Given the description of an element on the screen output the (x, y) to click on. 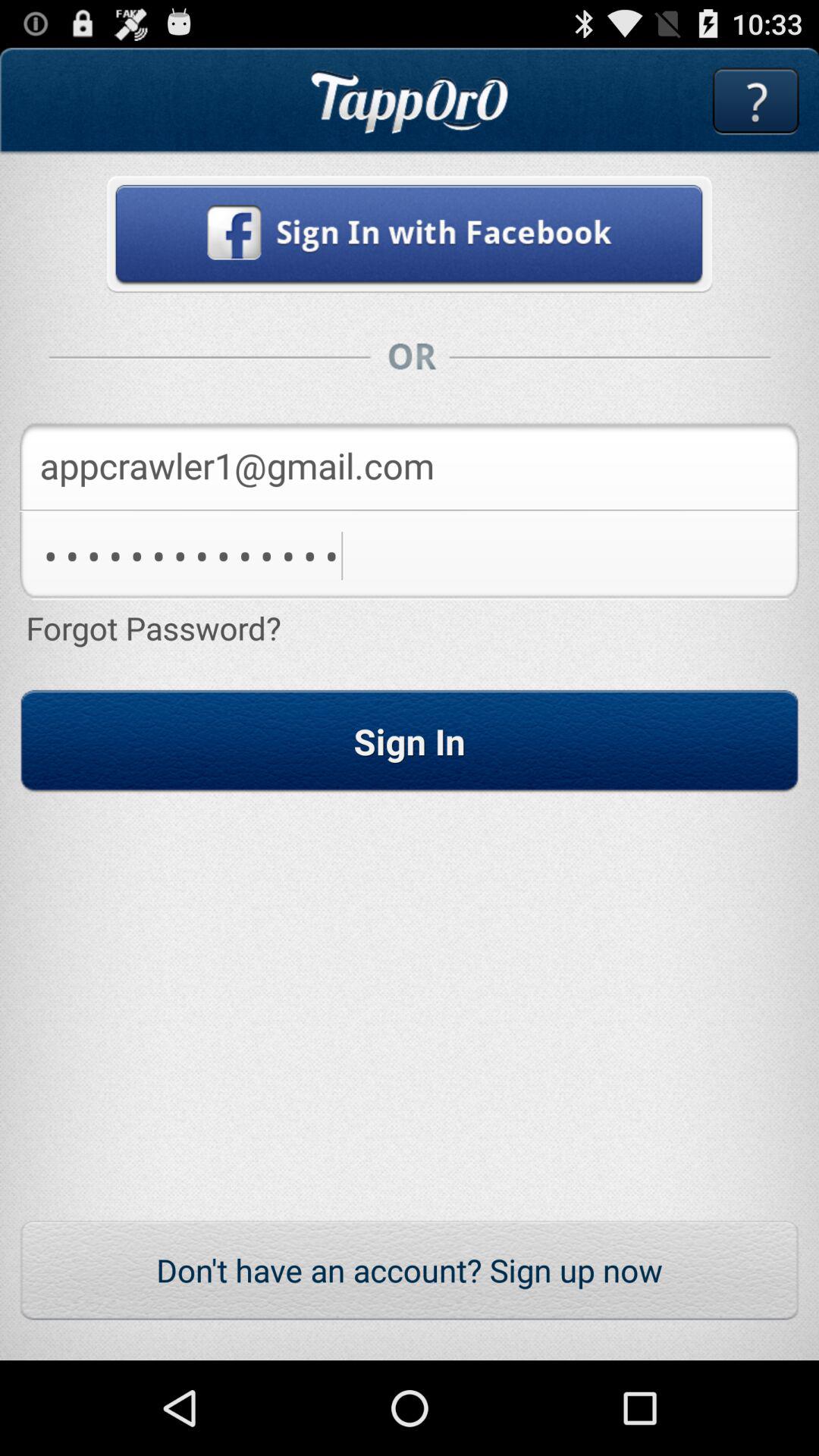
get more information (755, 101)
